Given the description of an element on the screen output the (x, y) to click on. 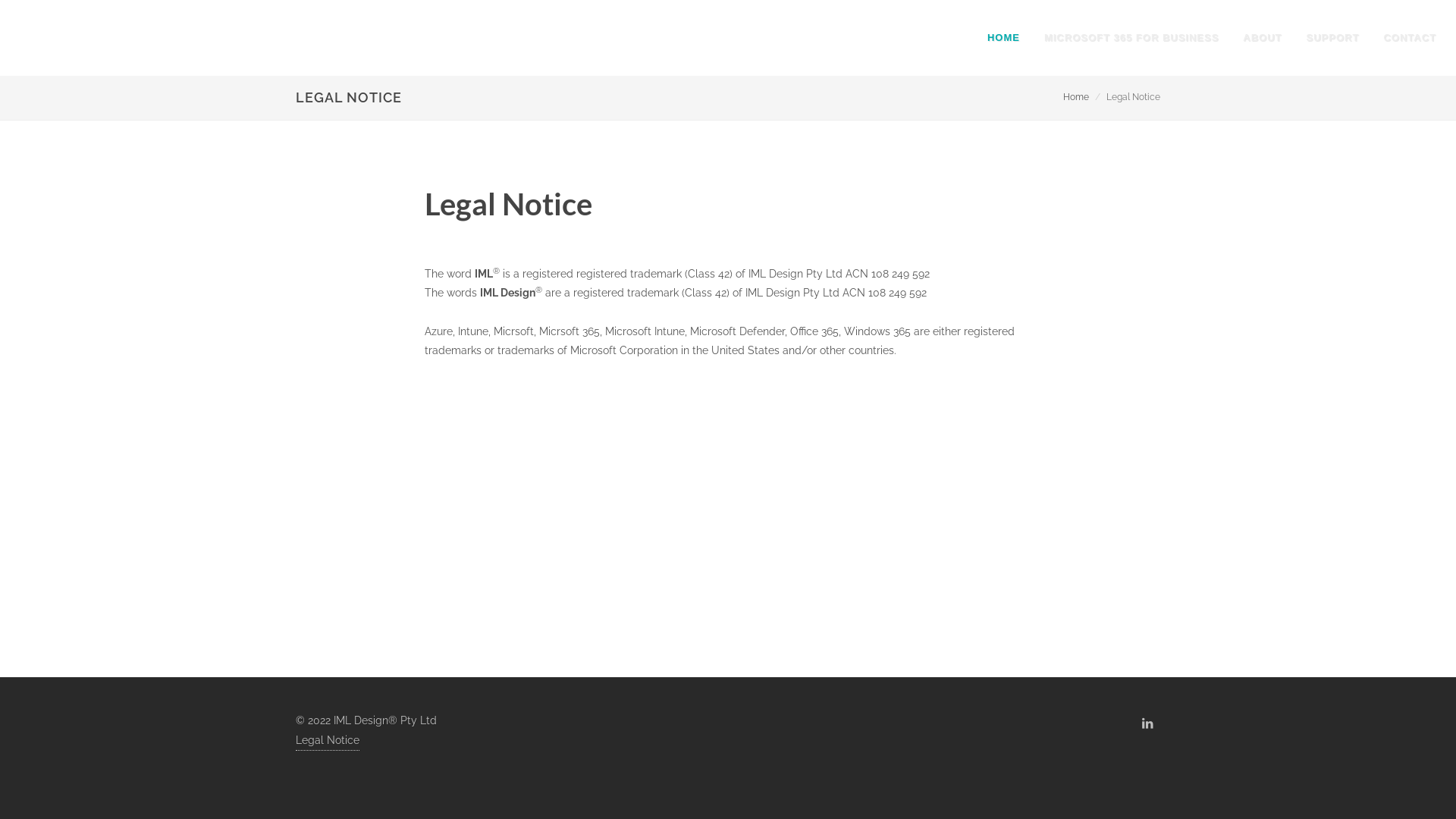
Legal Notice Element type: text (327, 740)
MICROSOFT 365 FOR BUSINESS Element type: text (1131, 37)
CONTACT Element type: text (1409, 37)
Home Element type: text (1075, 96)
SUPPORT Element type: text (1333, 37)
HOME Element type: text (1003, 37)
ABOUT Element type: text (1261, 37)
